Given the description of an element on the screen output the (x, y) to click on. 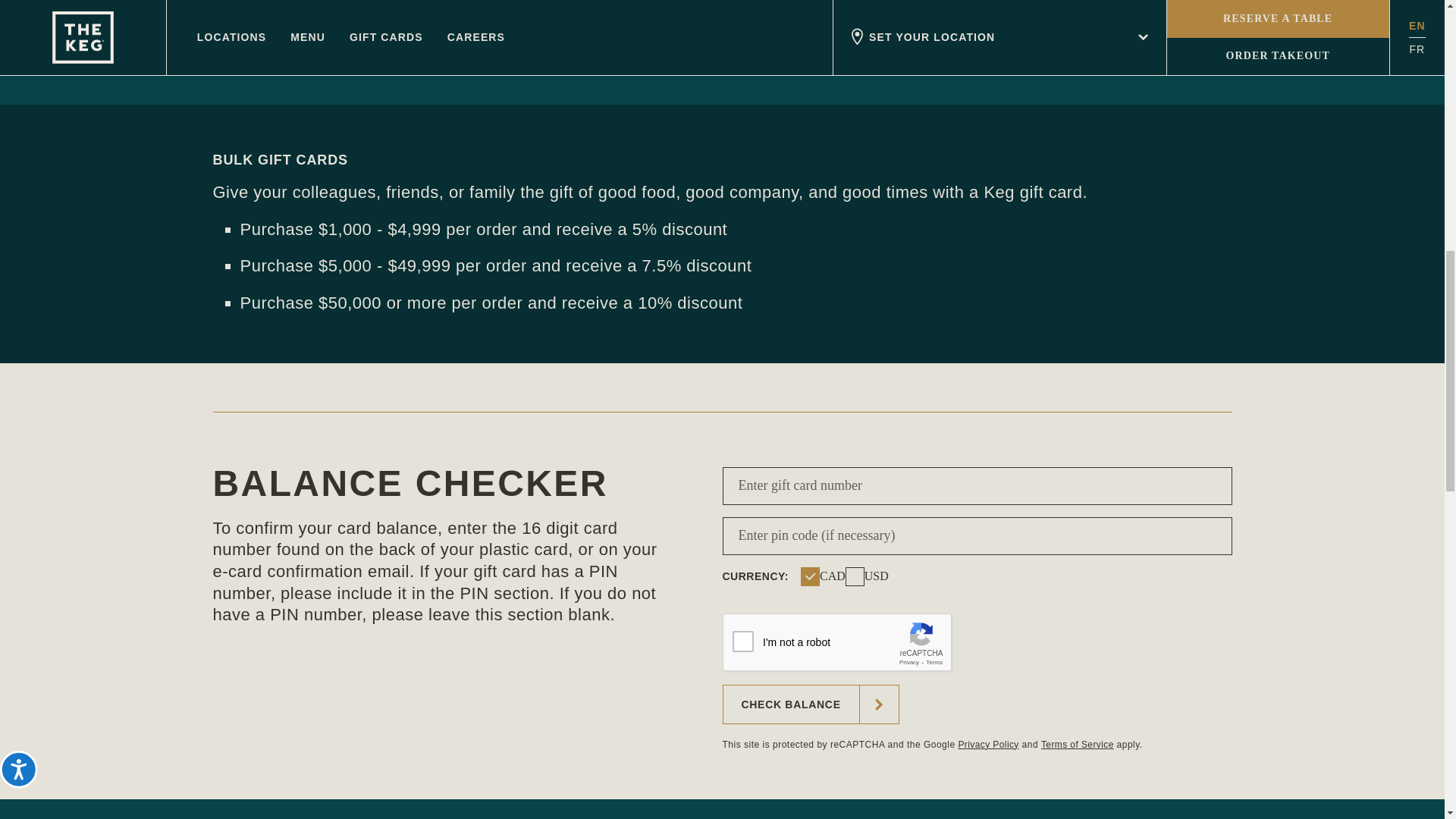
Terms of Service (1077, 744)
reCAPTCHA (837, 642)
DIGITAL GIFT CARDS (371, 33)
PHYSICAL GIFT CARDS (721, 33)
Privacy Policy (987, 744)
CHECK BALANCE (810, 703)
